Given the description of an element on the screen output the (x, y) to click on. 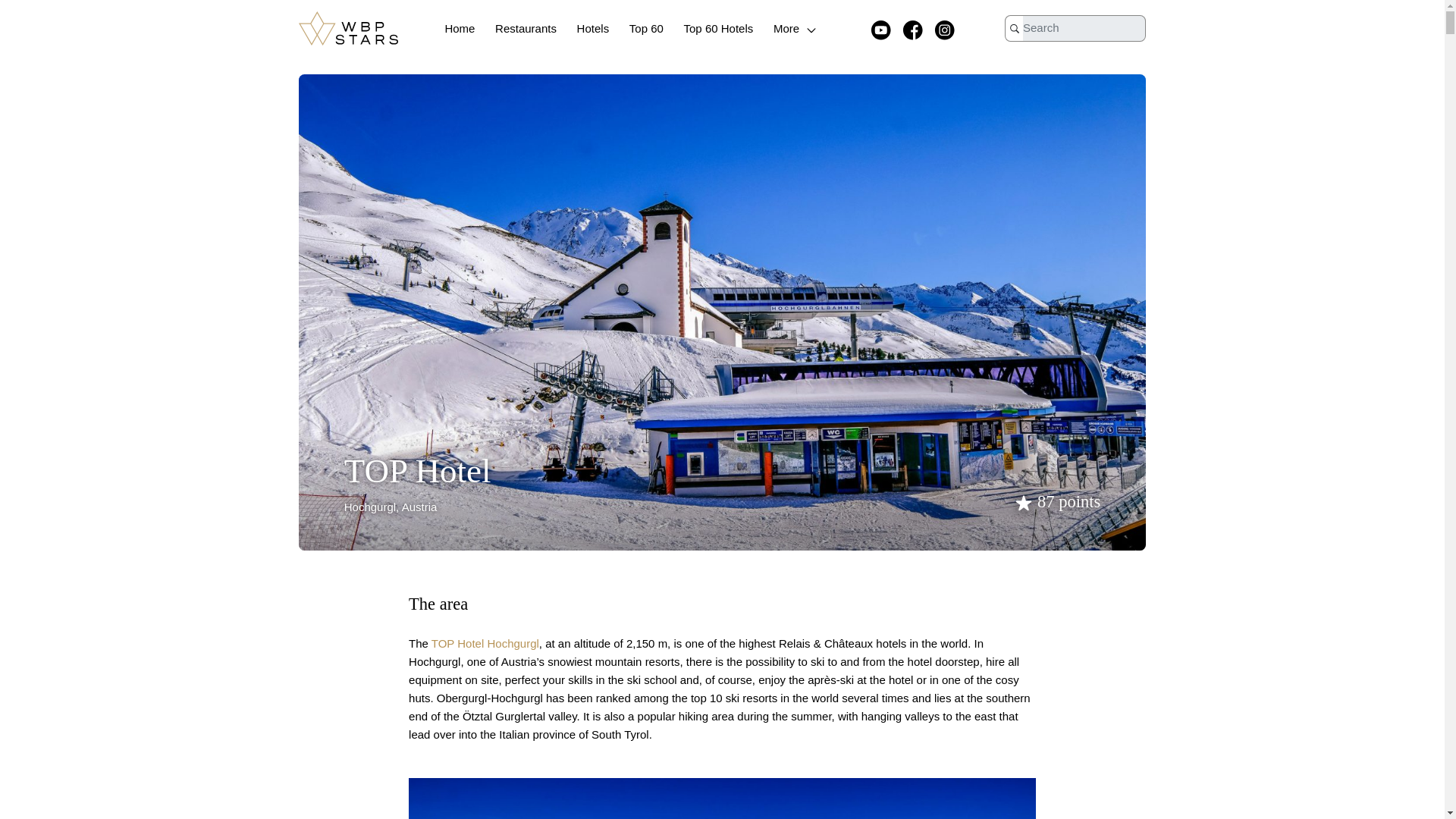
87 points (1055, 501)
Top 60 Hotels (719, 28)
Restaurants (525, 28)
Top 60 (645, 28)
About our rating system (1055, 501)
Hotels (593, 28)
TOP Hotel Hochgurgl (484, 643)
More (797, 28)
